Given the description of an element on the screen output the (x, y) to click on. 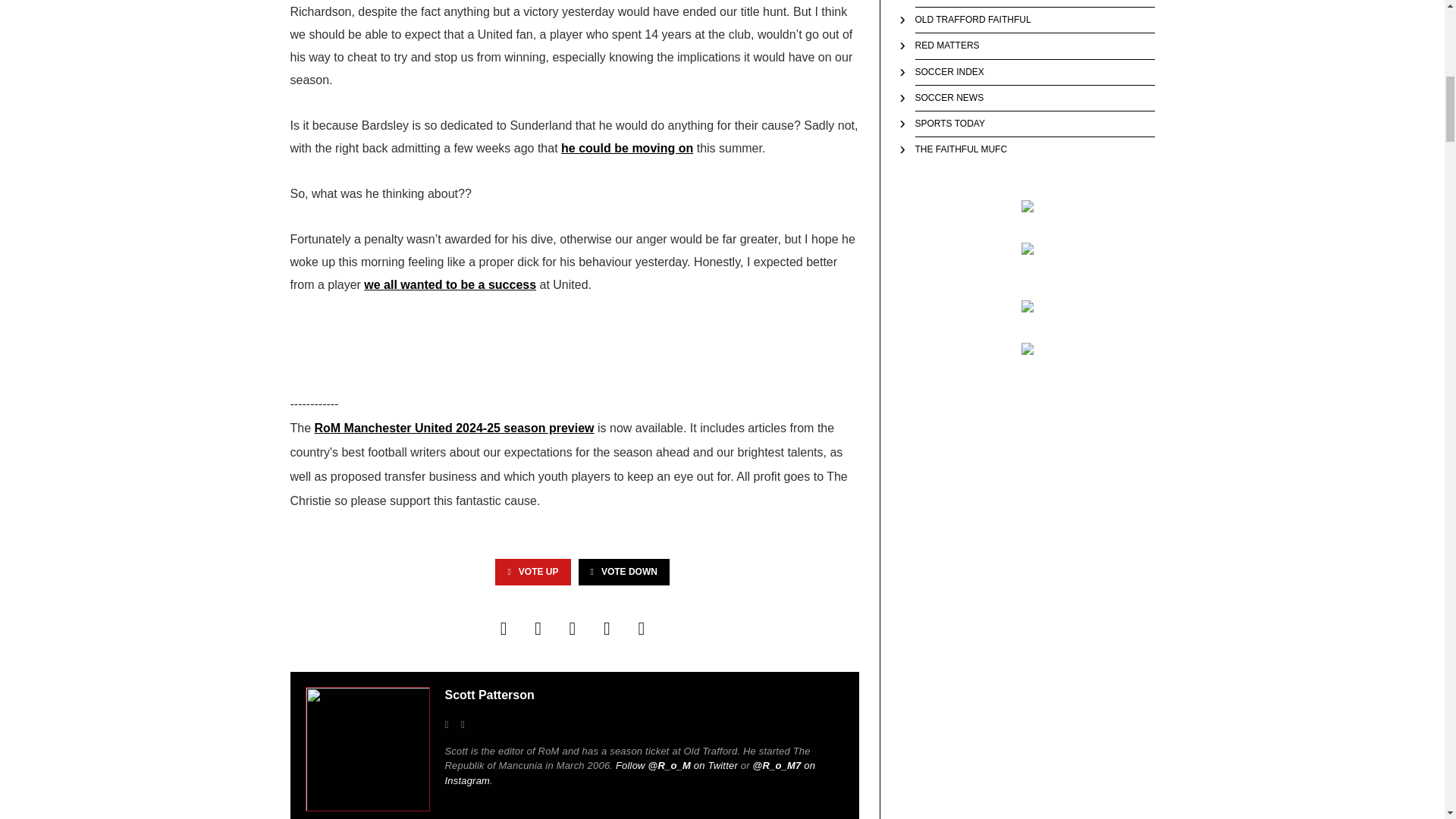
VOTE UP (532, 571)
Scott Patterson (489, 694)
RoM Manchester United 2024-25 season preview (454, 427)
he could be moving on (626, 147)
we all wanted to be a success (449, 284)
VOTE DOWN (623, 571)
